Given the description of an element on the screen output the (x, y) to click on. 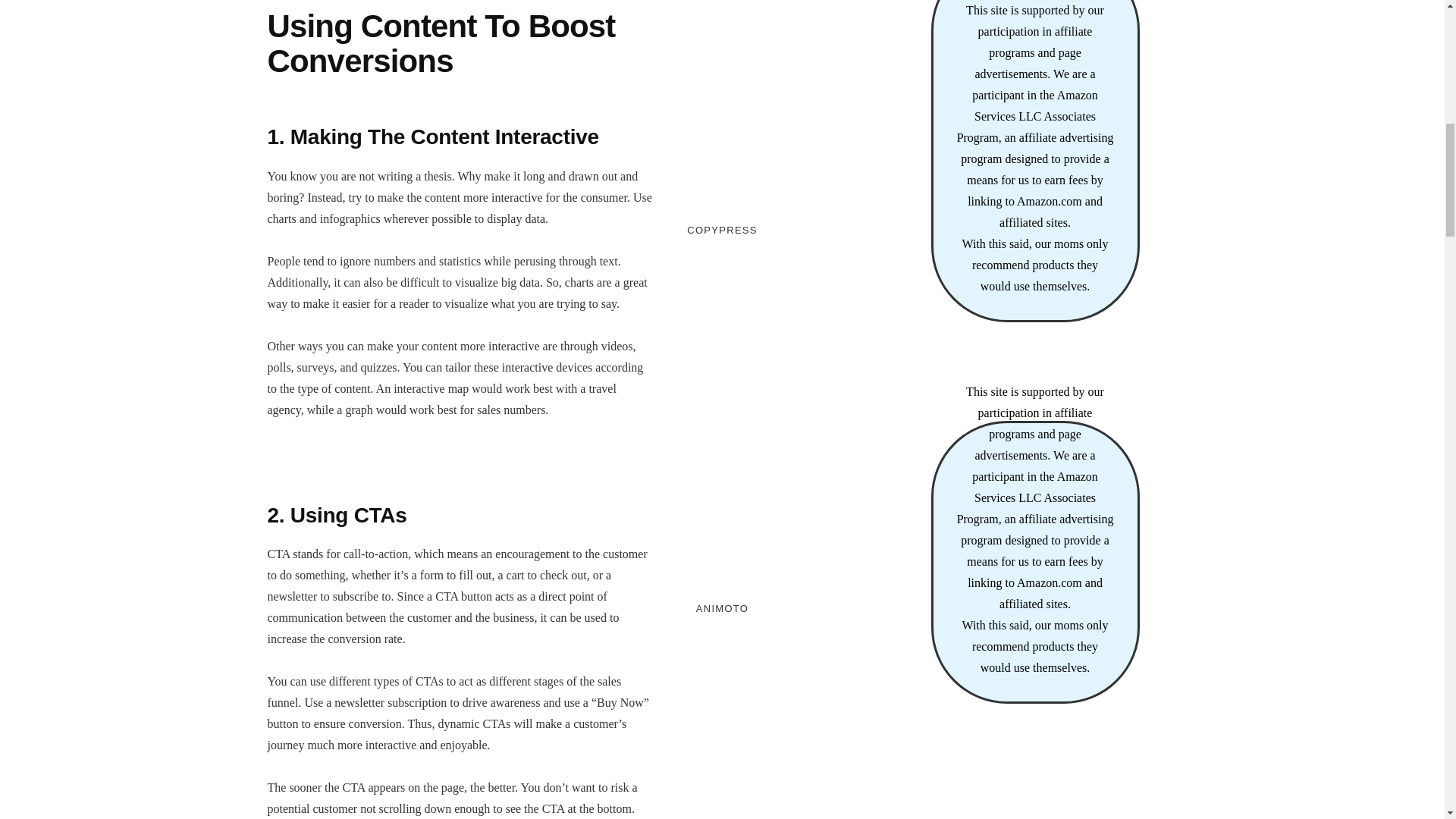
1-20 (722, 154)
2-19 (722, 532)
